Given the description of an element on the screen output the (x, y) to click on. 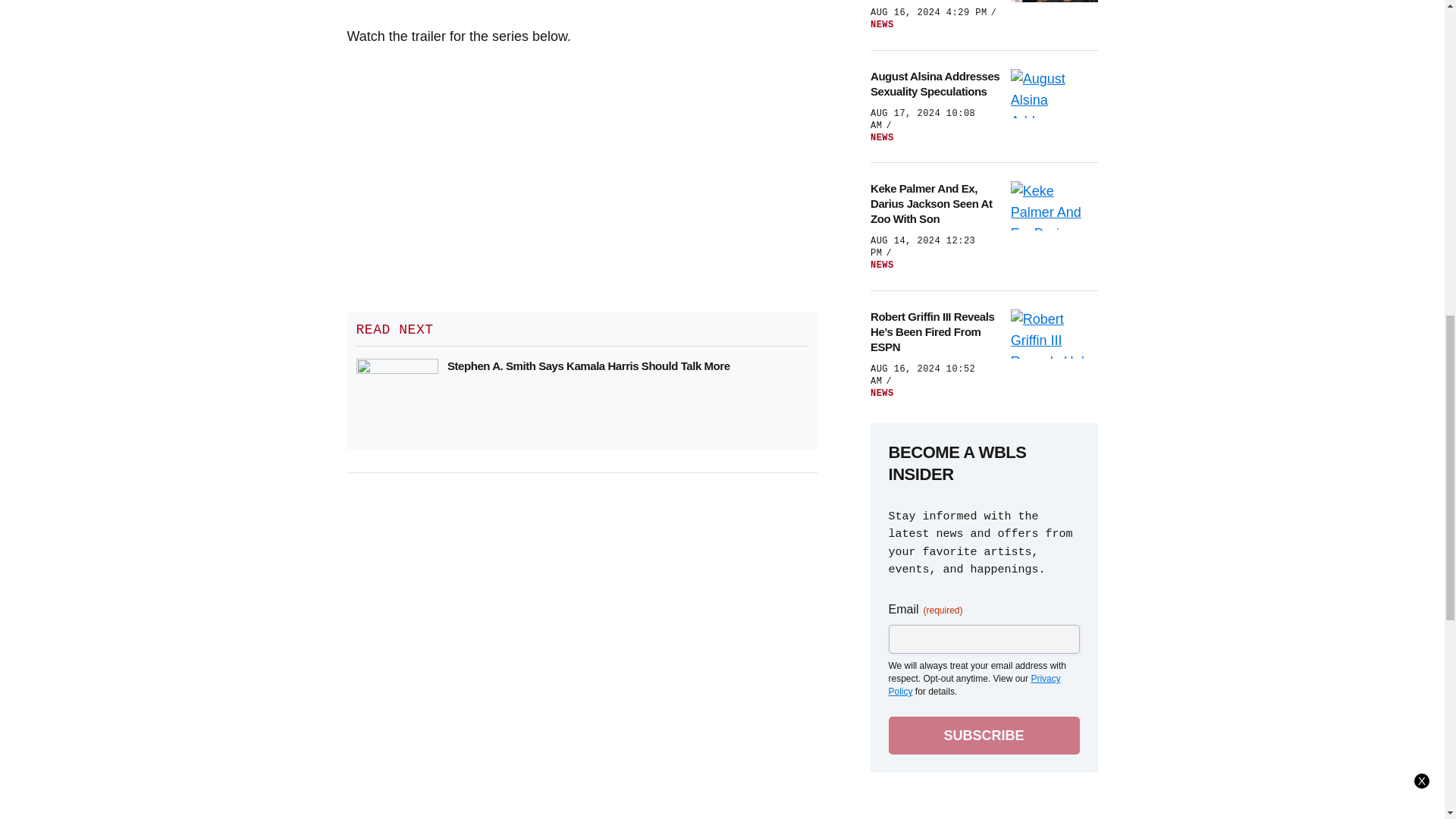
Keke Palmer And Ex, Darius Jackson Seen At Zoo With Son (935, 203)
Privacy Policy (974, 684)
Stephen A. Smith Says Kamala Harris Should Talk More (588, 365)
August Alsina Addresses Sexuality Speculations (935, 82)
Subscribe (984, 735)
Subscribe (984, 735)
